Given the description of an element on the screen output the (x, y) to click on. 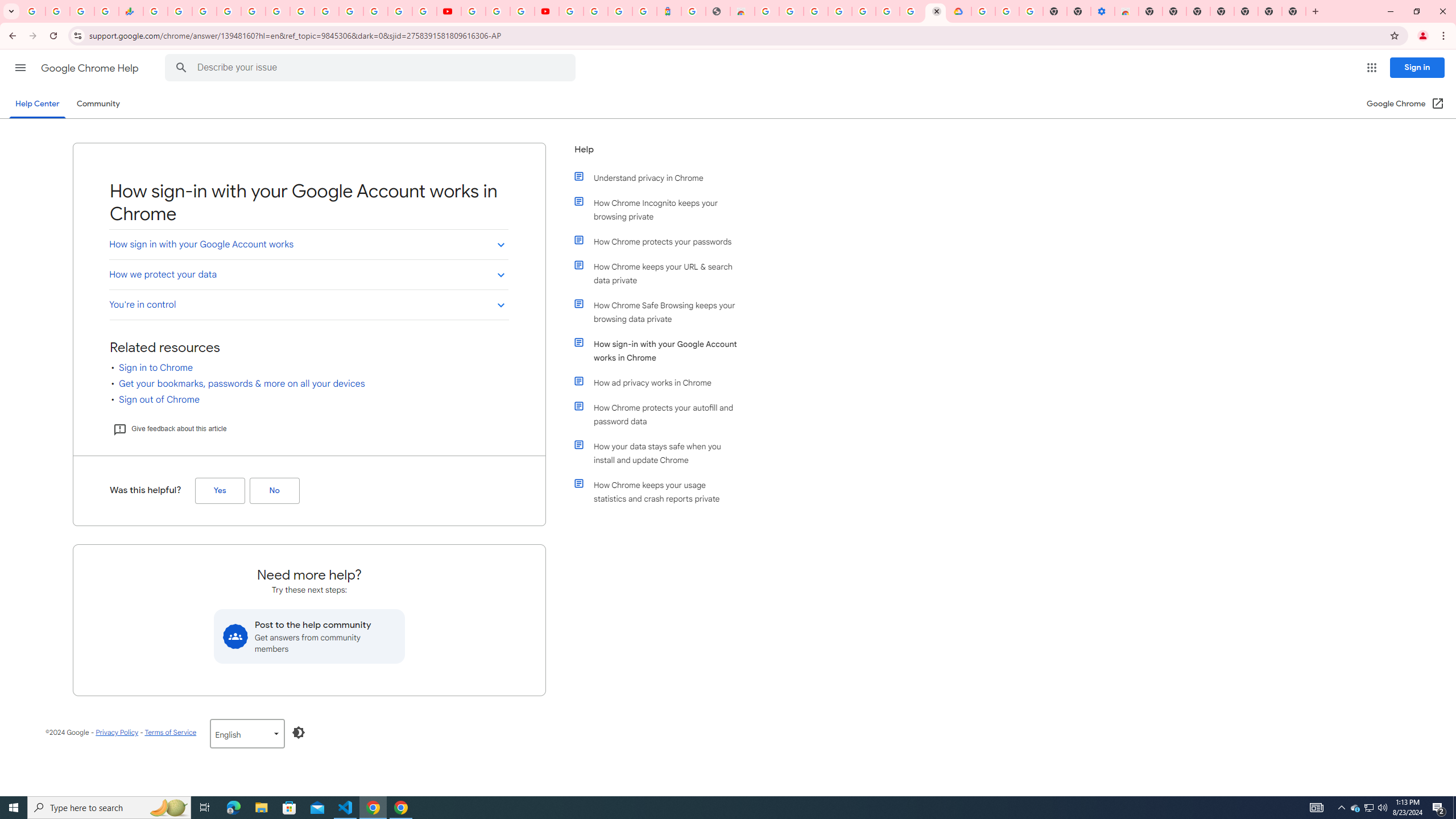
Sign in - Google Accounts (228, 11)
Sign out of Chrome (159, 399)
Community (97, 103)
Google Workspace Admin Community (33, 11)
How Chrome Safe Browsing keeps your browsing data private (661, 312)
Search Help Center (181, 67)
Google Account Help (497, 11)
Describe your issue (371, 67)
YouTube (325, 11)
